Given the description of an element on the screen output the (x, y) to click on. 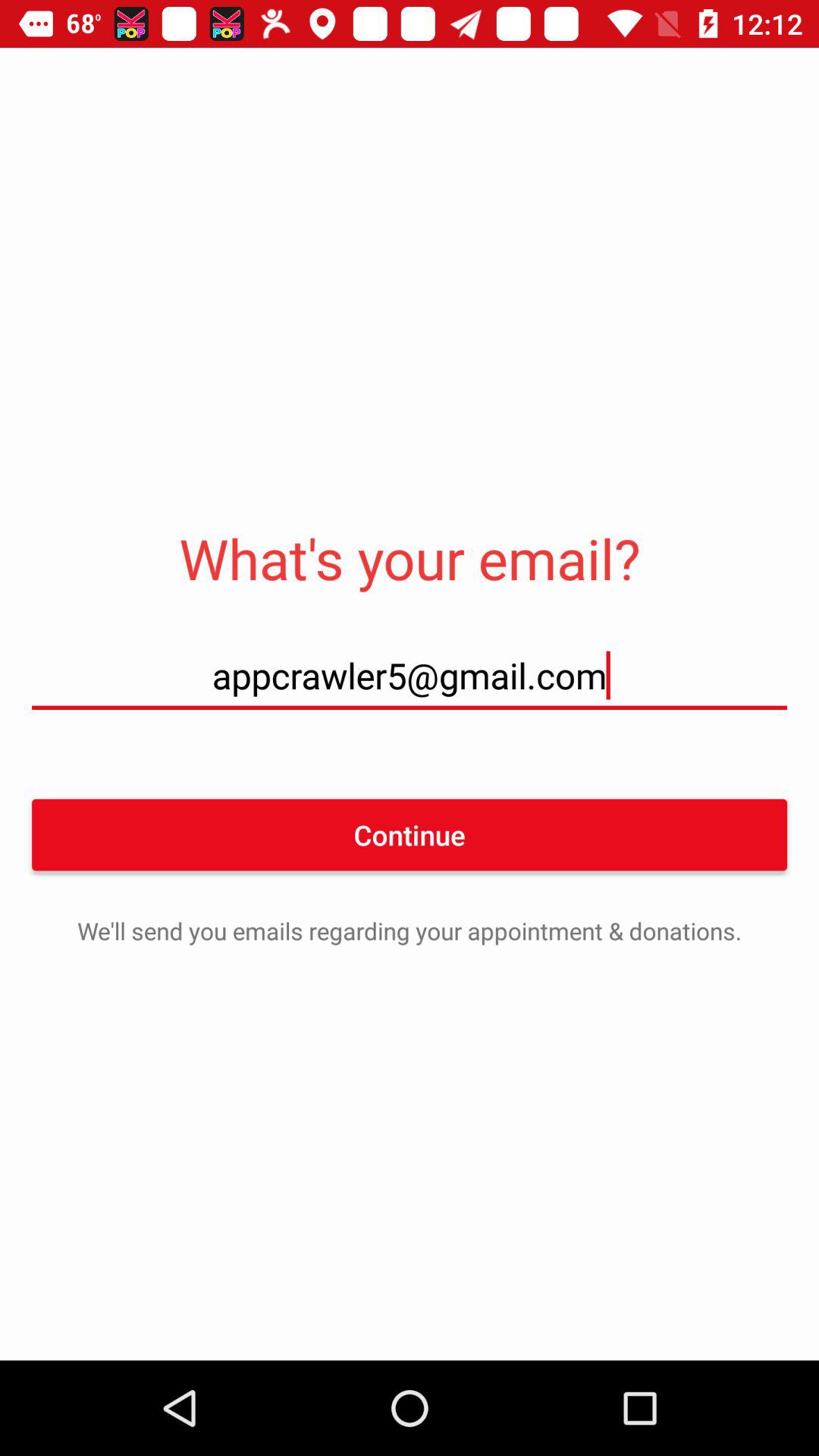
turn on icon above continue icon (409, 675)
